Given the description of an element on the screen output the (x, y) to click on. 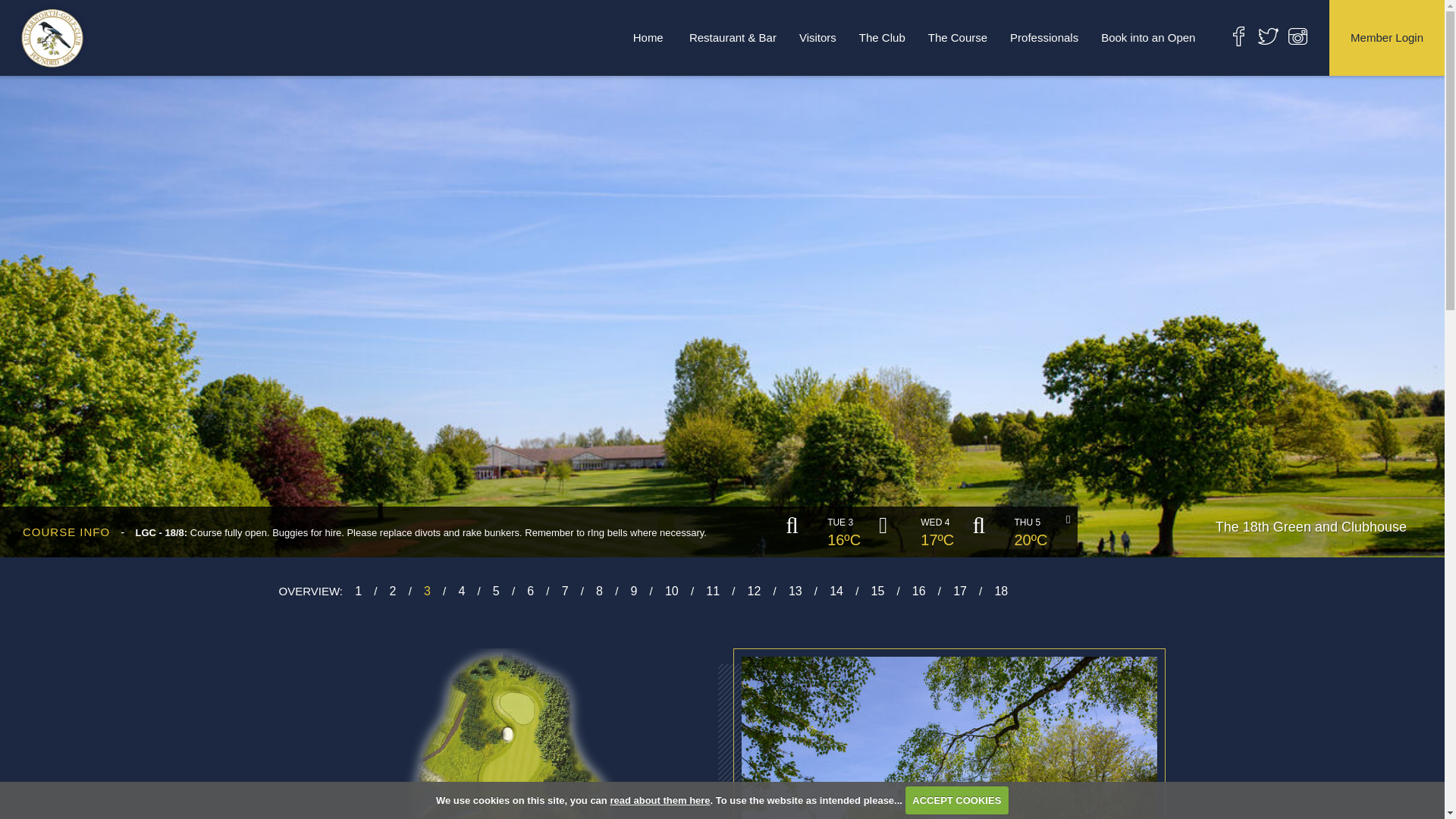
Professionals (1043, 37)
The Course (957, 37)
Home (647, 37)
Visitors (817, 37)
The Club (882, 37)
read about our cookies (660, 799)
